Given the description of an element on the screen output the (x, y) to click on. 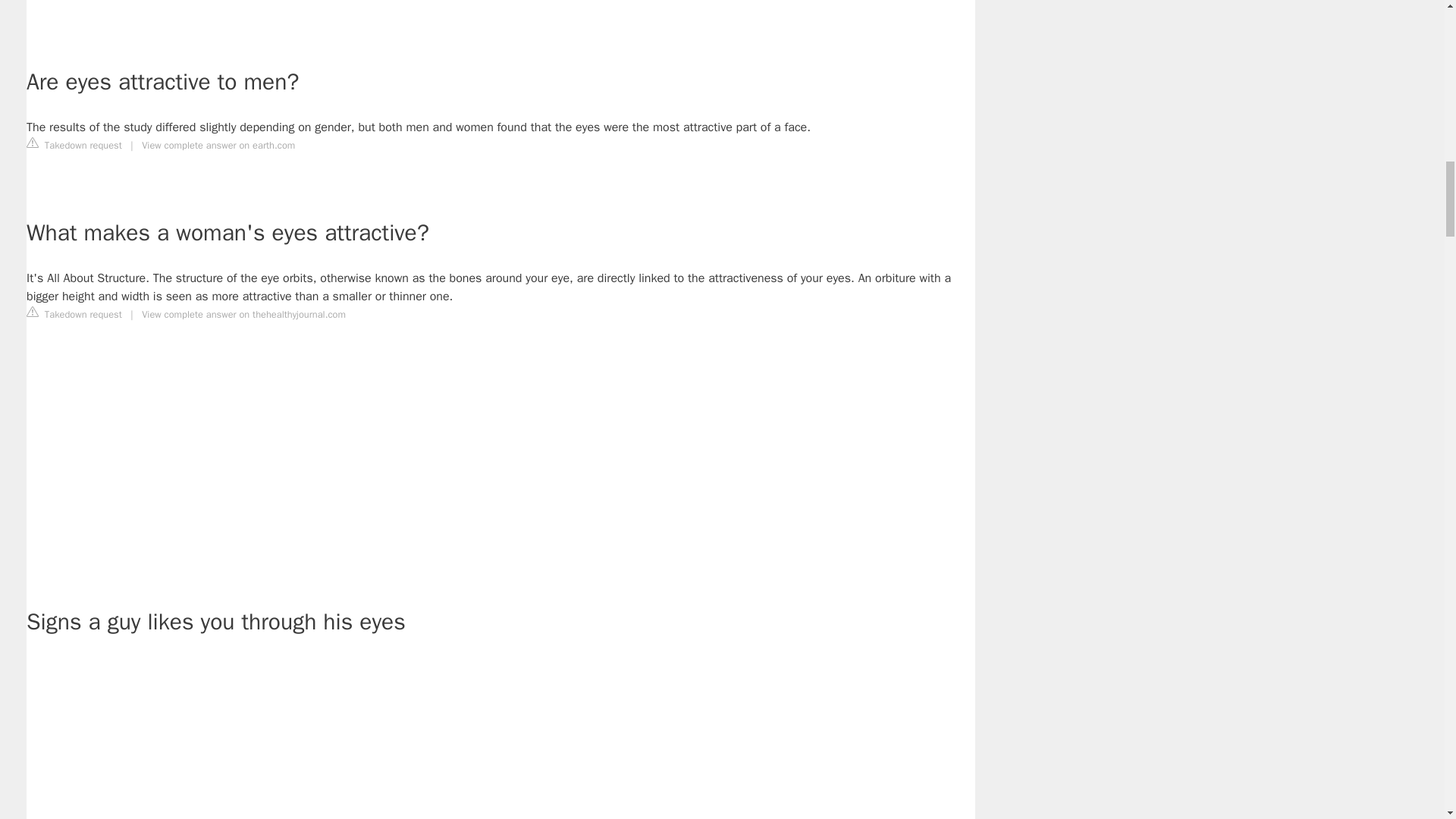
Takedown request (74, 144)
Takedown request (74, 313)
View complete answer on thehealthyjournal.com (243, 314)
View complete answer on earth.com (218, 145)
